Given the description of an element on the screen output the (x, y) to click on. 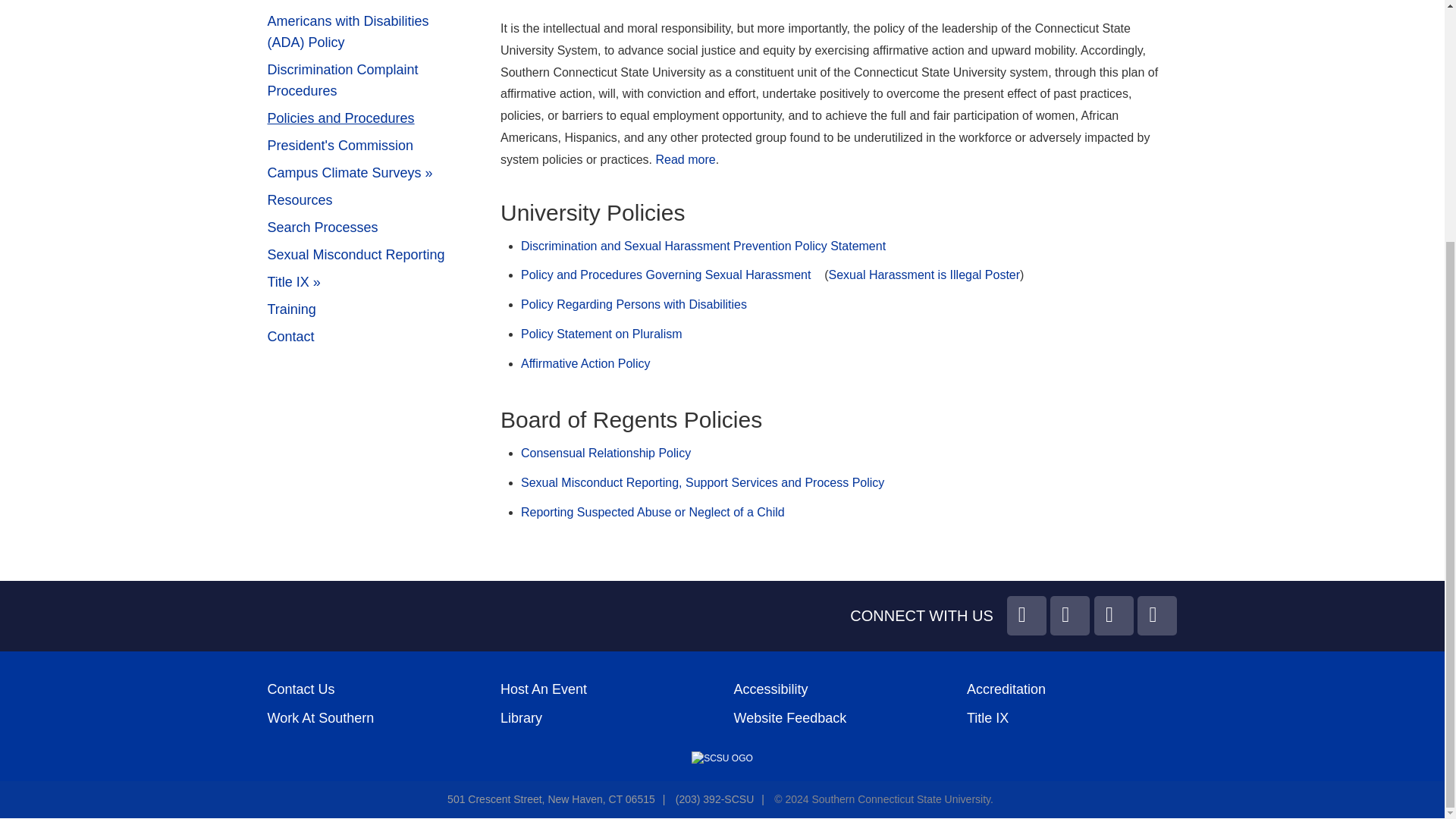
Affirmative Action (371, 4)
Policies and Procedures (371, 118)
Policy Statement (686, 159)
Sexual Harassment is Illegal Poster (924, 274)
Policy and Procedures Governing Sexual Harassment (665, 274)
Discrimination Complaint Procedures (371, 80)
Affirmative Action Policy (585, 363)
Sexual Misconduct Policy (702, 481)
Reporting Suspected Abuse or Neglect of a Child (652, 512)
President's Commission (371, 145)
